Given the description of an element on the screen output the (x, y) to click on. 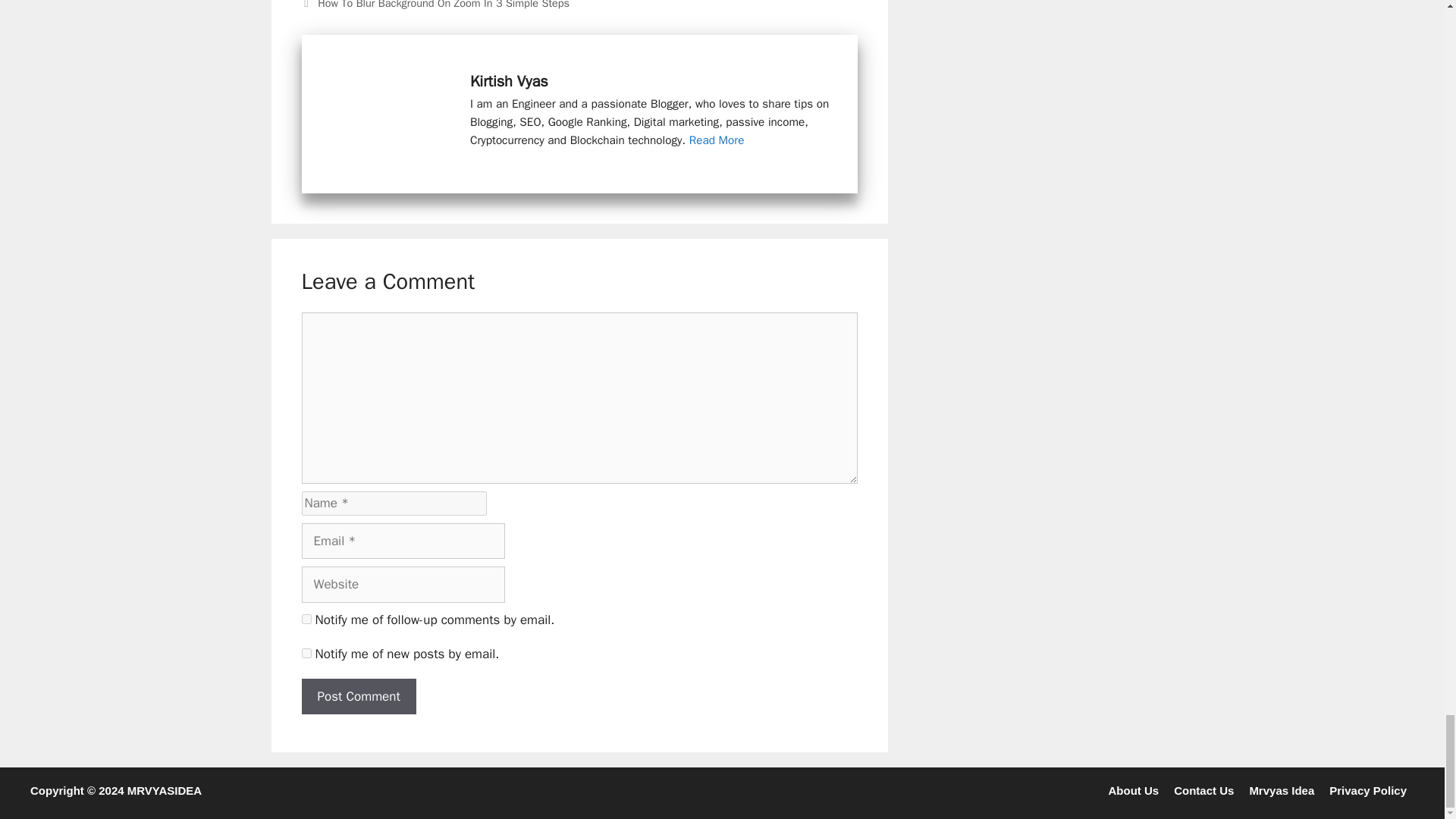
Post Comment (358, 696)
subscribe (306, 653)
subscribe (306, 619)
